Given the description of an element on the screen output the (x, y) to click on. 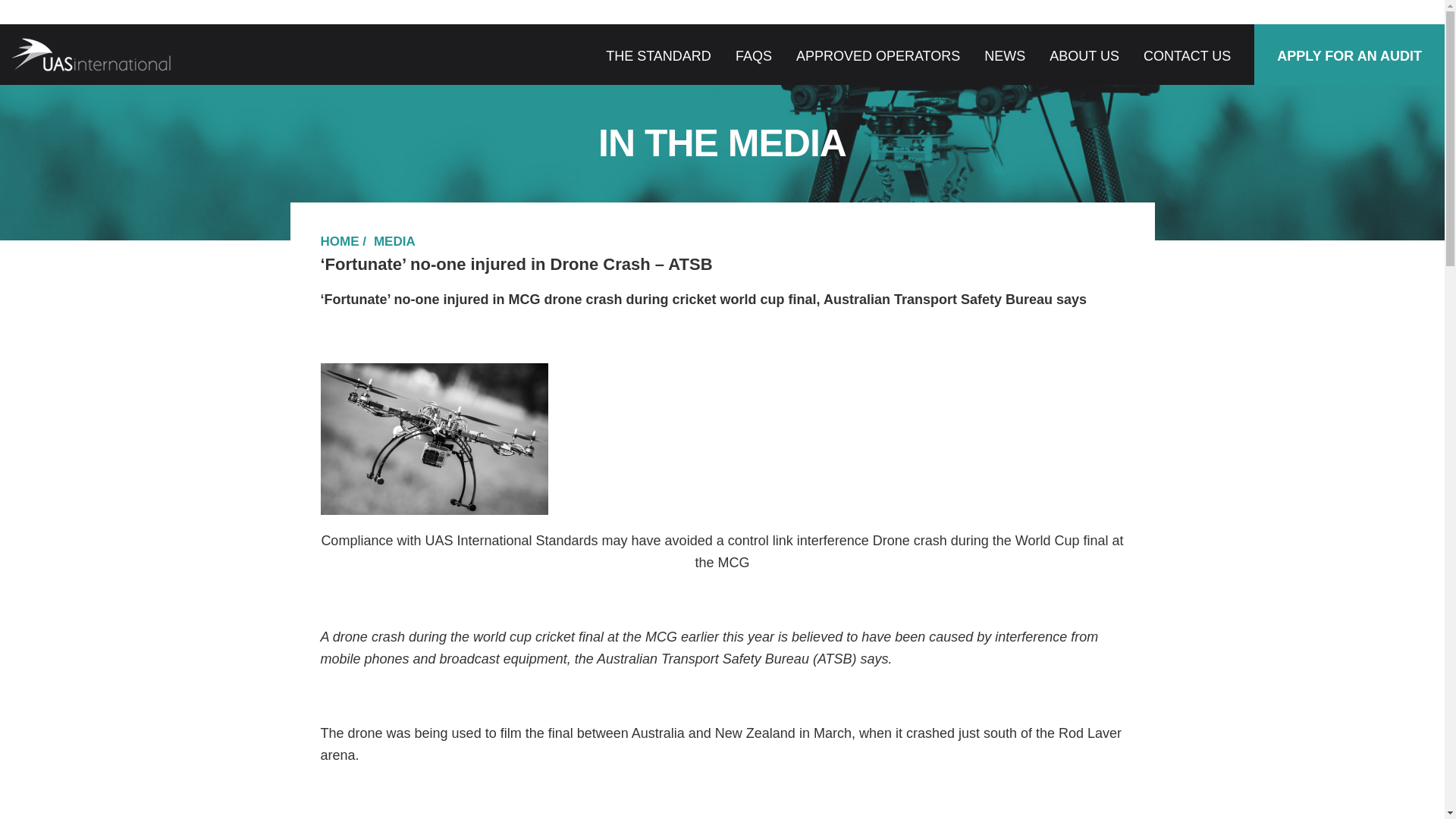
CONTACT US (1186, 55)
FAQS (753, 55)
APPROVED OPERATORS (877, 55)
APPLY FOR AN AUDIT (1349, 55)
ABOUT US (1084, 55)
THE STANDARD (658, 55)
MEDIA (394, 241)
NEWS (1004, 55)
